Given the description of an element on the screen output the (x, y) to click on. 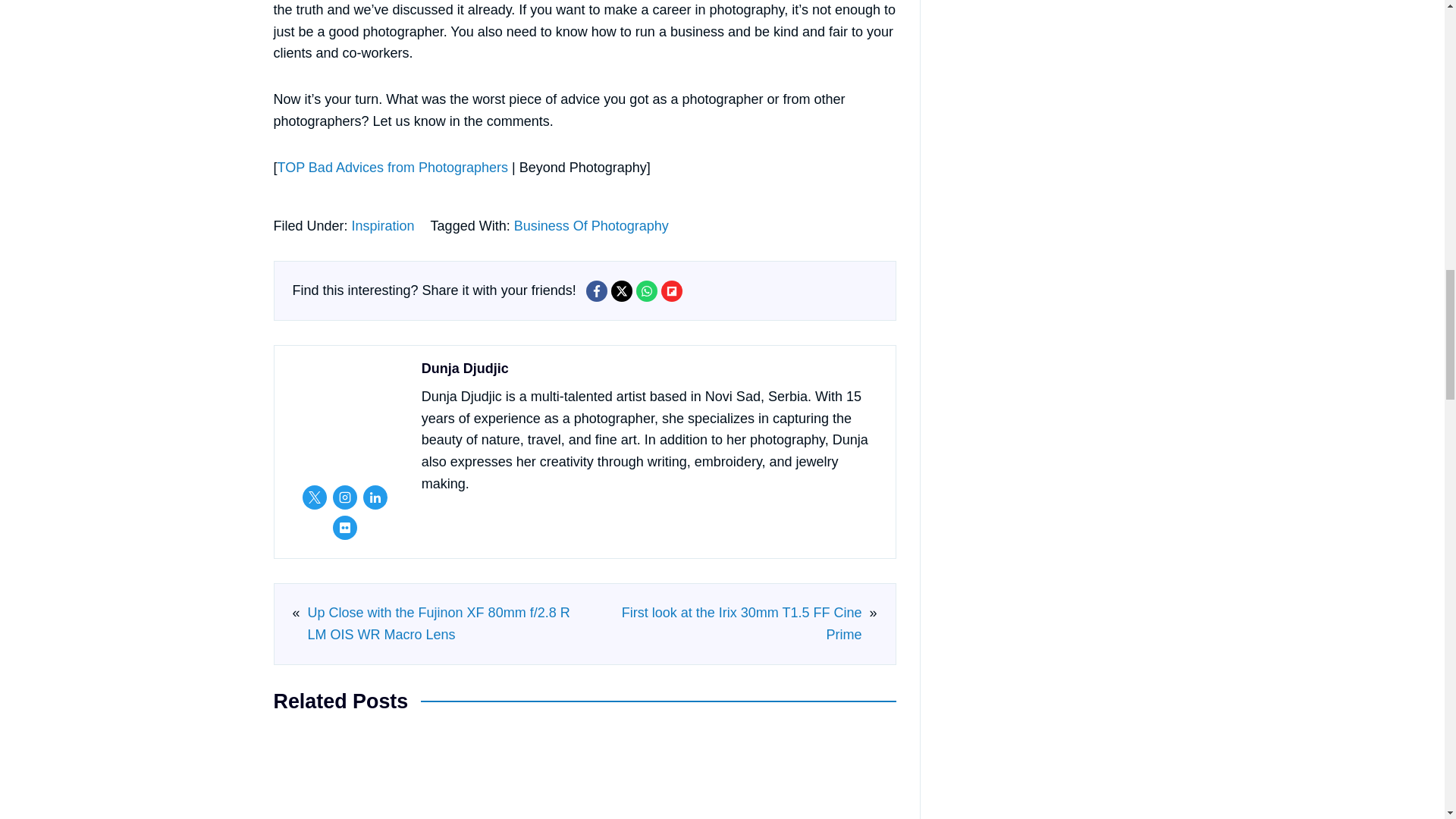
5 pieces of street photography advice you should ignore (346, 774)
